Given the description of an element on the screen output the (x, y) to click on. 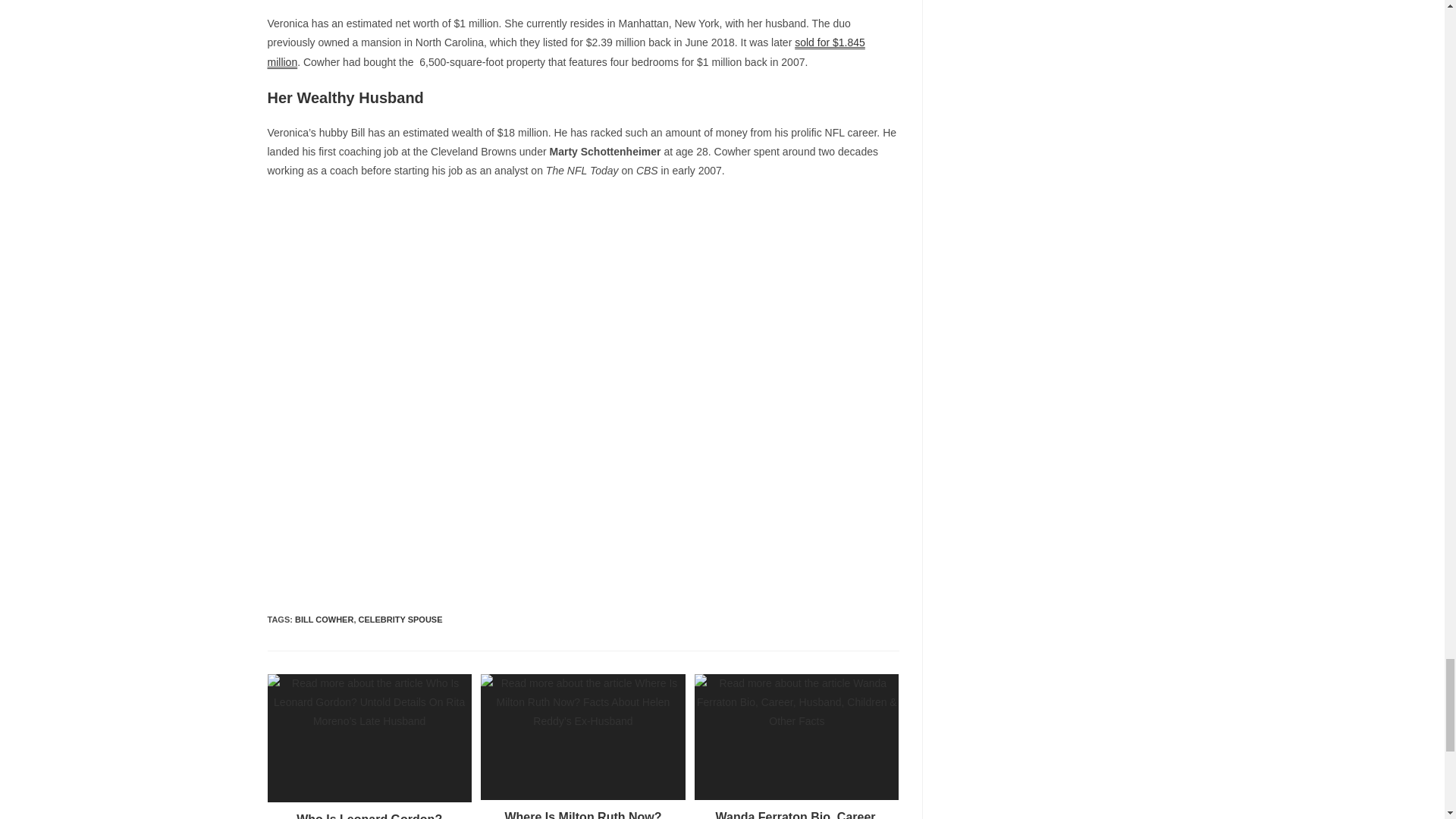
CELEBRITY SPOUSE (400, 619)
BILL COWHER (324, 619)
